Given the description of an element on the screen output the (x, y) to click on. 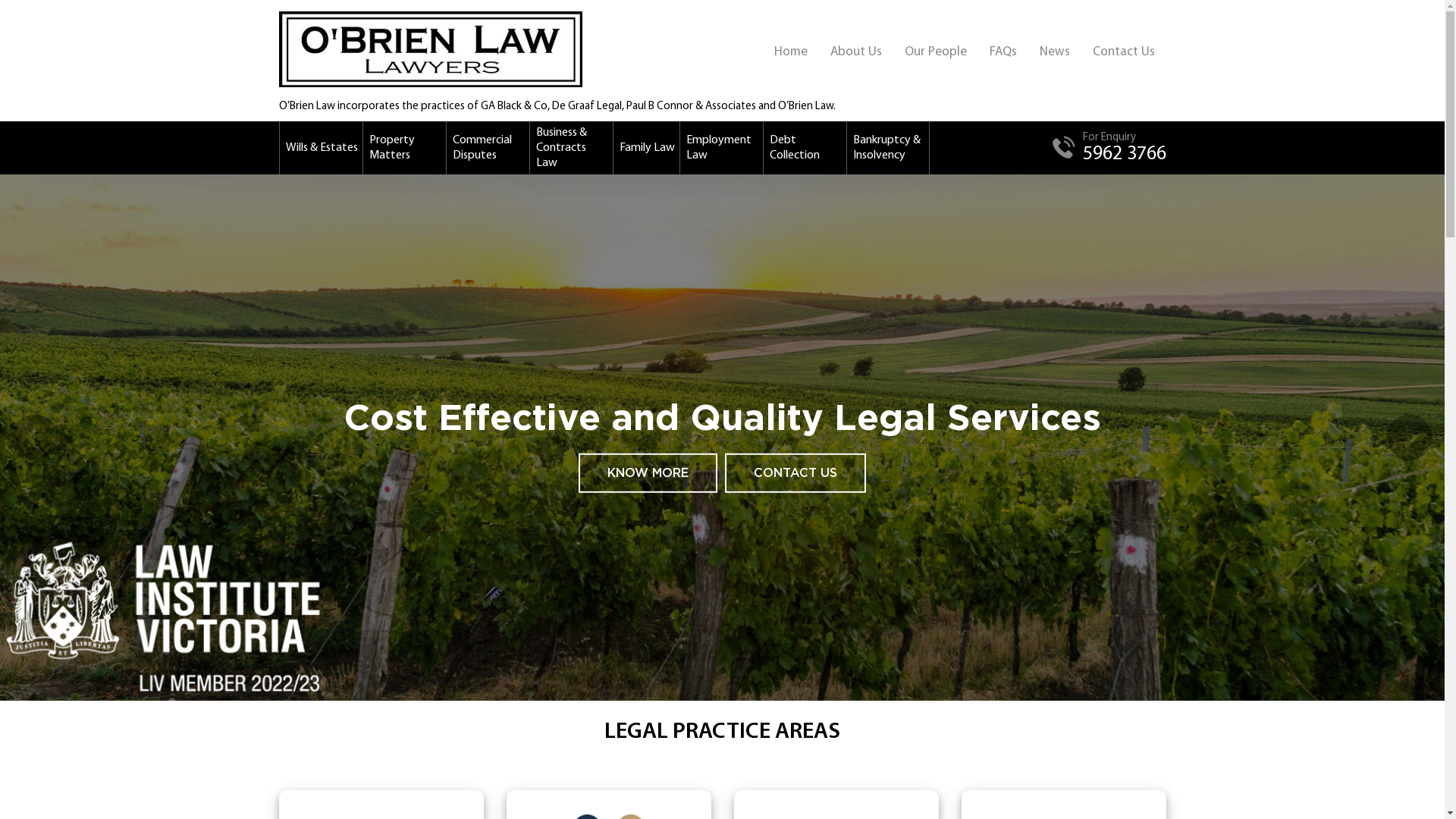
KNOW MORE Element type: text (647, 472)
Bankruptcy & Insolvency Element type: text (887, 147)
Home Element type: text (790, 52)
News Element type: text (1054, 52)
Our People Element type: text (935, 52)
Property Matters Element type: text (403, 147)
Business & Contracts Law Element type: text (570, 147)
Family Law Element type: text (645, 147)
For Enquiry
5962 3766 Element type: text (1109, 146)
Employment Law Element type: text (720, 147)
CONTACT US Element type: text (795, 472)
About Us Element type: text (856, 52)
Commercial Disputes Element type: text (487, 147)
Wills & Estates Element type: text (320, 147)
Contact Us Element type: text (1123, 52)
FAQs Element type: text (1003, 52)
Debt Collection Element type: text (804, 147)
